Given the description of an element on the screen output the (x, y) to click on. 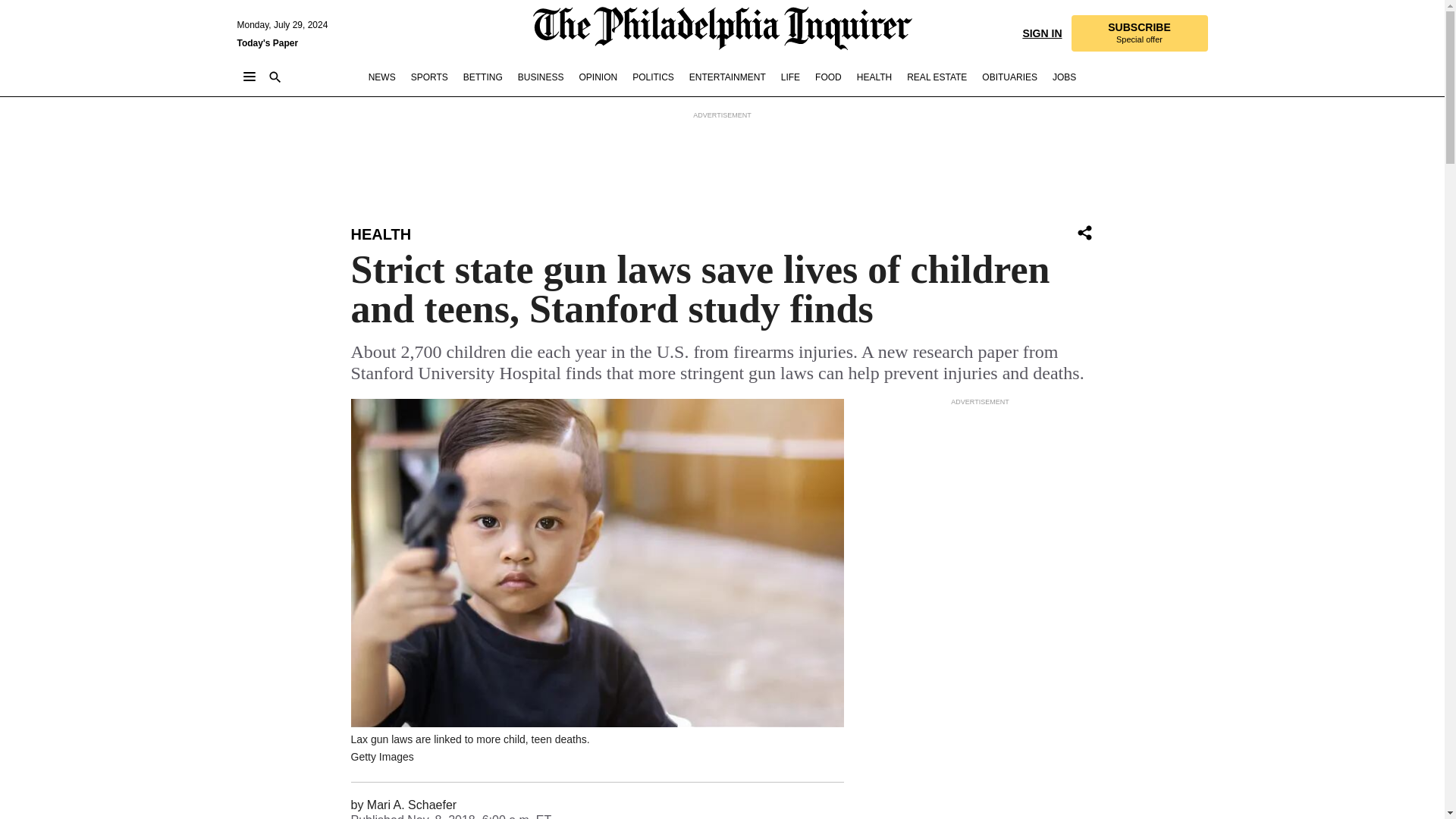
Share Icon (1084, 233)
FOOD (828, 77)
Health (380, 234)
HEALTH (874, 77)
POLITICS (652, 77)
SIGN IN (1041, 32)
ENTERTAINMENT (726, 77)
HEALTH (380, 234)
Today's Paper (266, 42)
Share Icon (1138, 33)
JOBS (1084, 232)
OPINION (1063, 77)
SPORTS (597, 77)
